Given the description of an element on the screen output the (x, y) to click on. 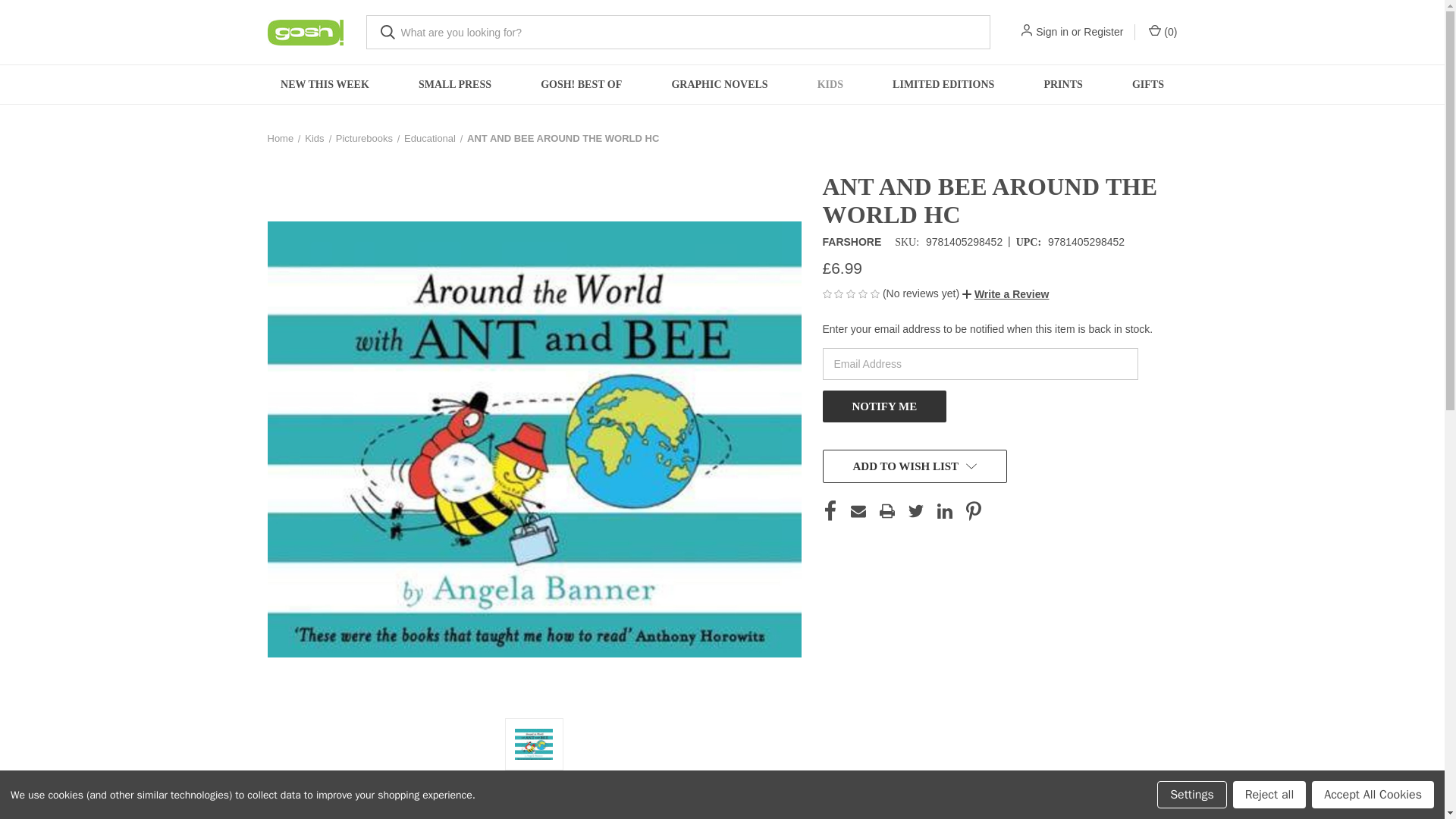
ANT AND BEE AROUND THE WORLD HC (534, 744)
GRAPHIC NOVELS (719, 84)
GOSH! BEST OF (581, 84)
Gosh! Comics (304, 32)
NEW THIS WEEK (325, 84)
Notify Me (884, 406)
Sign in (1051, 32)
SMALL PRESS (454, 84)
Register (1102, 32)
